Given the description of an element on the screen output the (x, y) to click on. 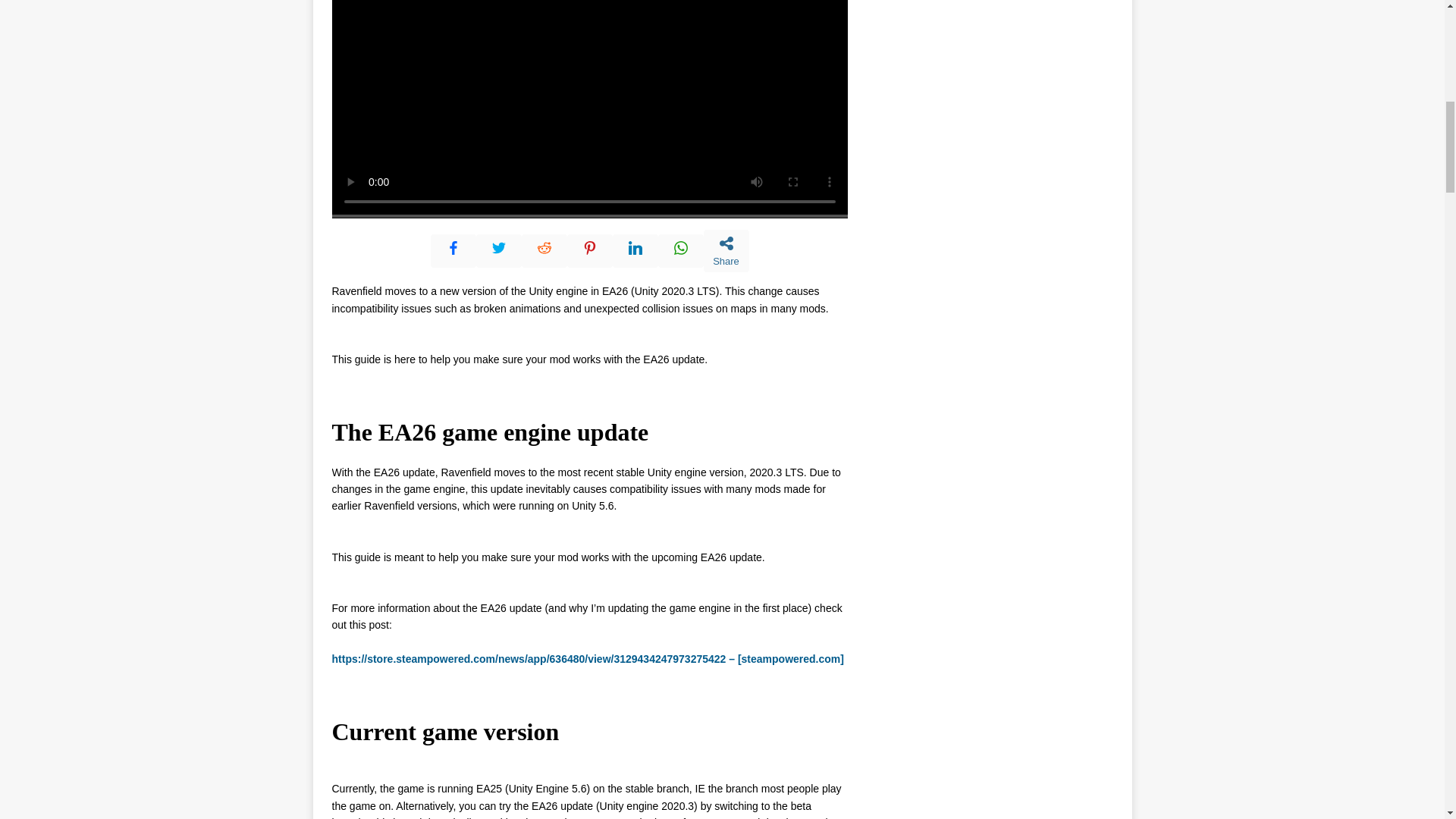
Share on LinkedIn (635, 250)
Share on Reddit (544, 250)
Share on Facebook (453, 250)
Share on WhatsApp (680, 250)
Share on Twitter (498, 250)
Share on Pinterest (589, 250)
Share on Share (726, 250)
Share (726, 250)
